Given the description of an element on the screen output the (x, y) to click on. 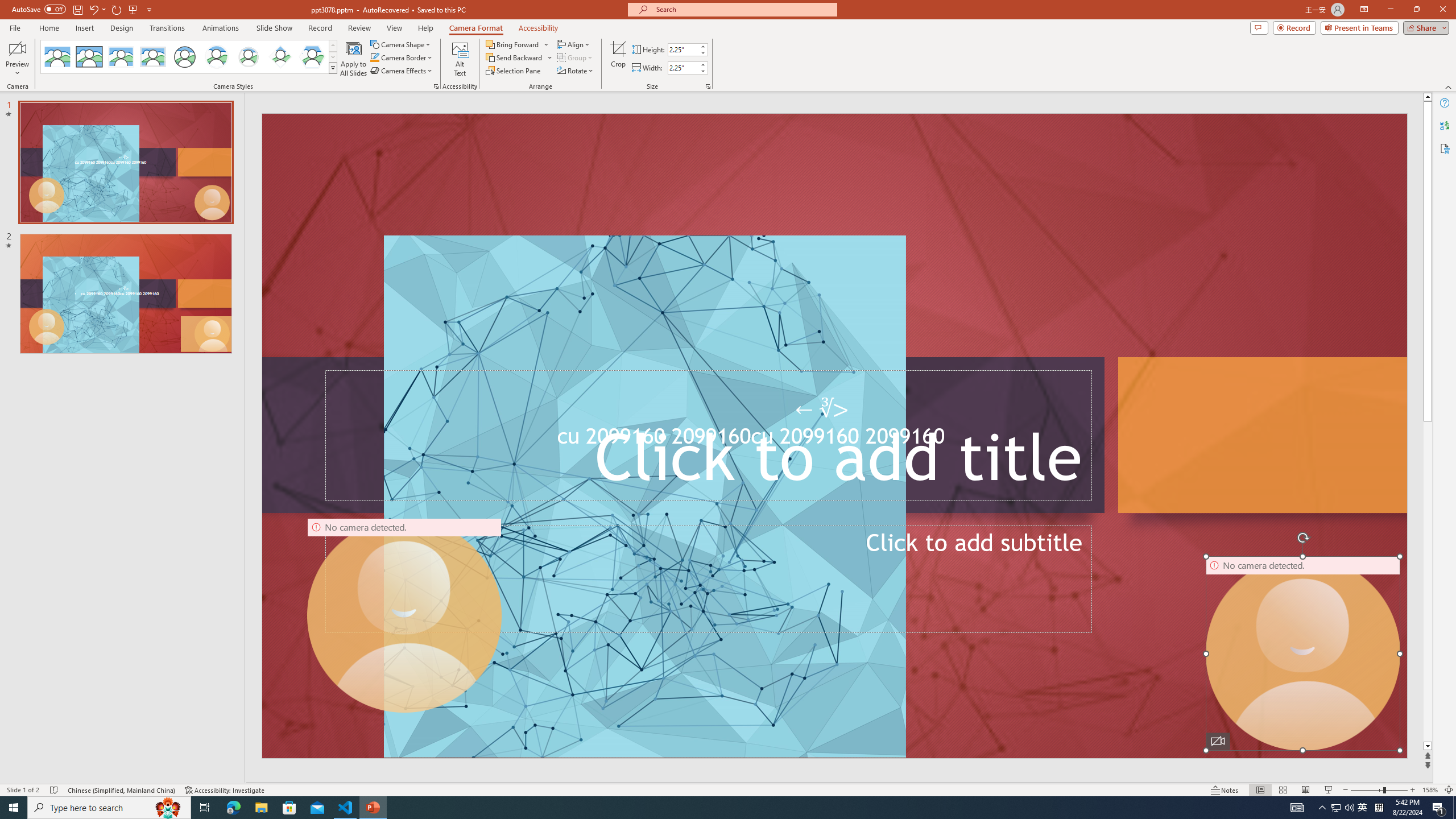
TextBox 7 (822, 409)
Enable Camera Preview (17, 48)
Simple Frame Circle (184, 56)
Selection Pane... (513, 69)
Apply to All Slides (353, 58)
Soft Edge Rectangle (152, 56)
Center Shadow Rectangle (120, 56)
AutomationID: CameoStylesGallery (189, 56)
